Given the description of an element on the screen output the (x, y) to click on. 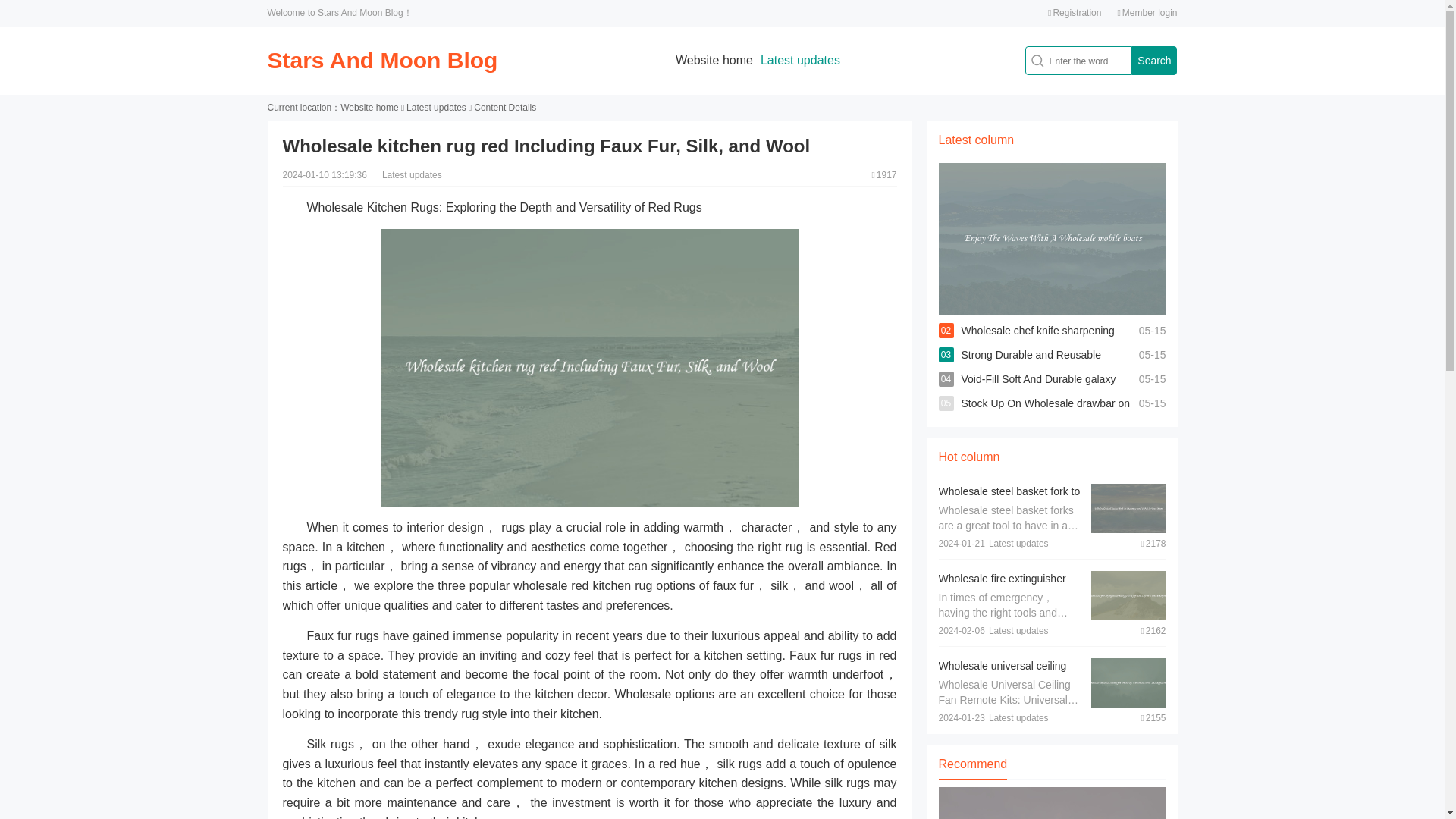
Stars And Moon Blog (381, 59)
Search (1153, 60)
Latest updates (435, 107)
Member login (1146, 12)
Latest updates (800, 60)
Website home (713, 60)
Registration (1074, 12)
Stock Up On Wholesale drawbar on tractor (1045, 415)
